Given the description of an element on the screen output the (x, y) to click on. 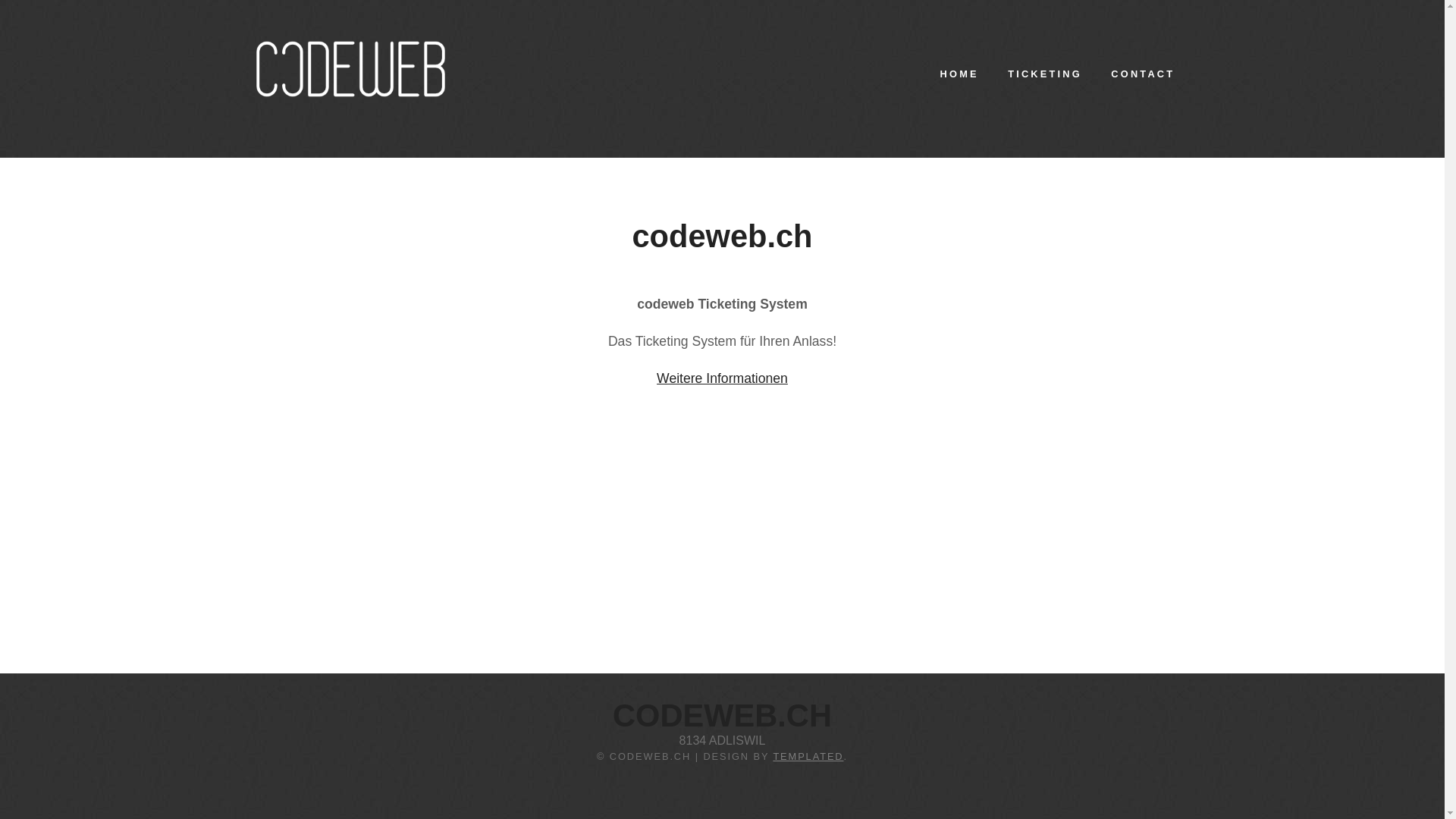
HOME Element type: text (959, 73)
TEMPLATED Element type: text (807, 756)
CONTACT Element type: text (1142, 73)
TICKETING Element type: text (1044, 73)
Weitere Informationen Element type: text (721, 377)
